Given the description of an element on the screen output the (x, y) to click on. 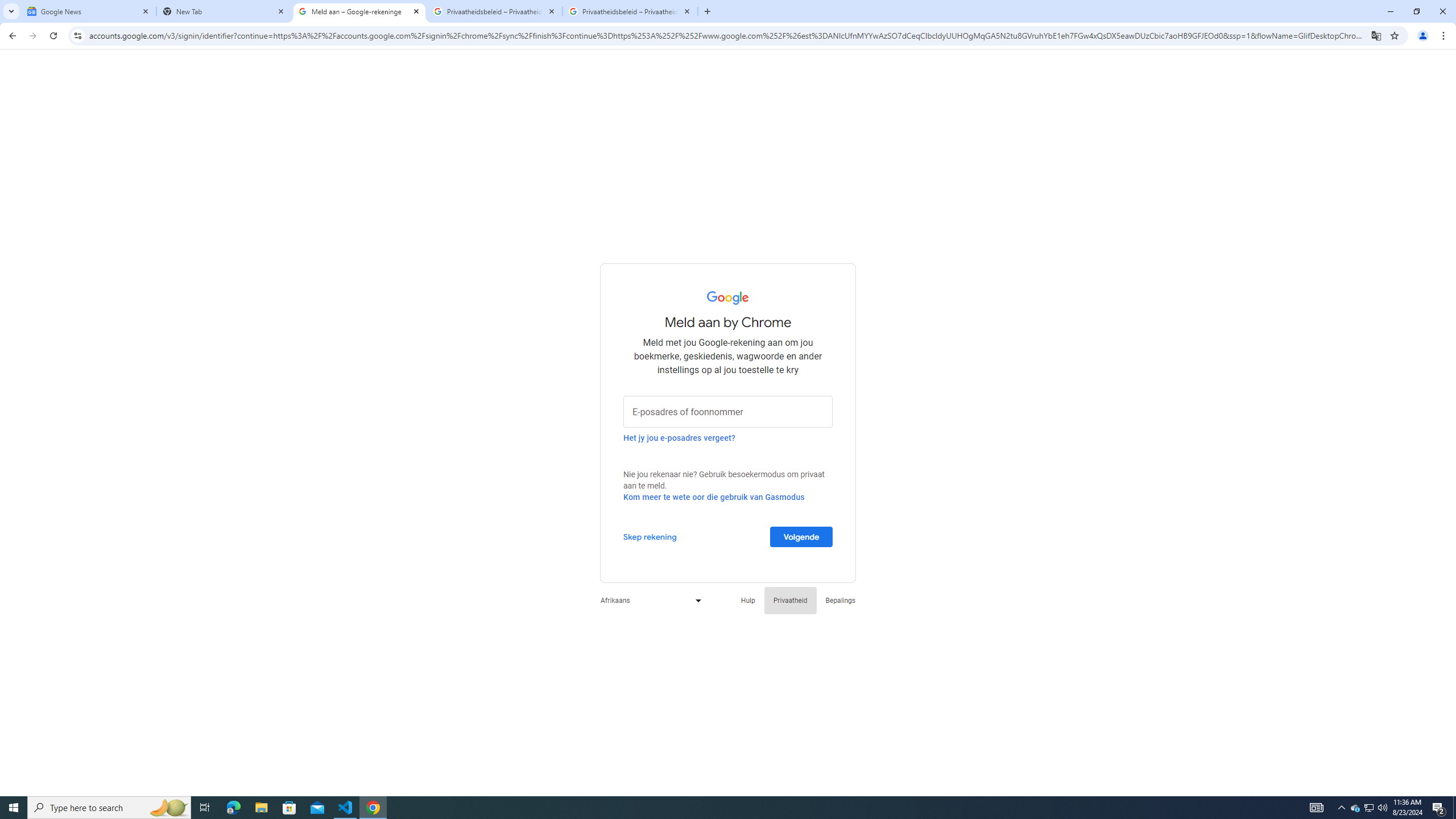
E-posadres of foonnommer (727, 411)
Hulp (747, 600)
